Given the description of an element on the screen output the (x, y) to click on. 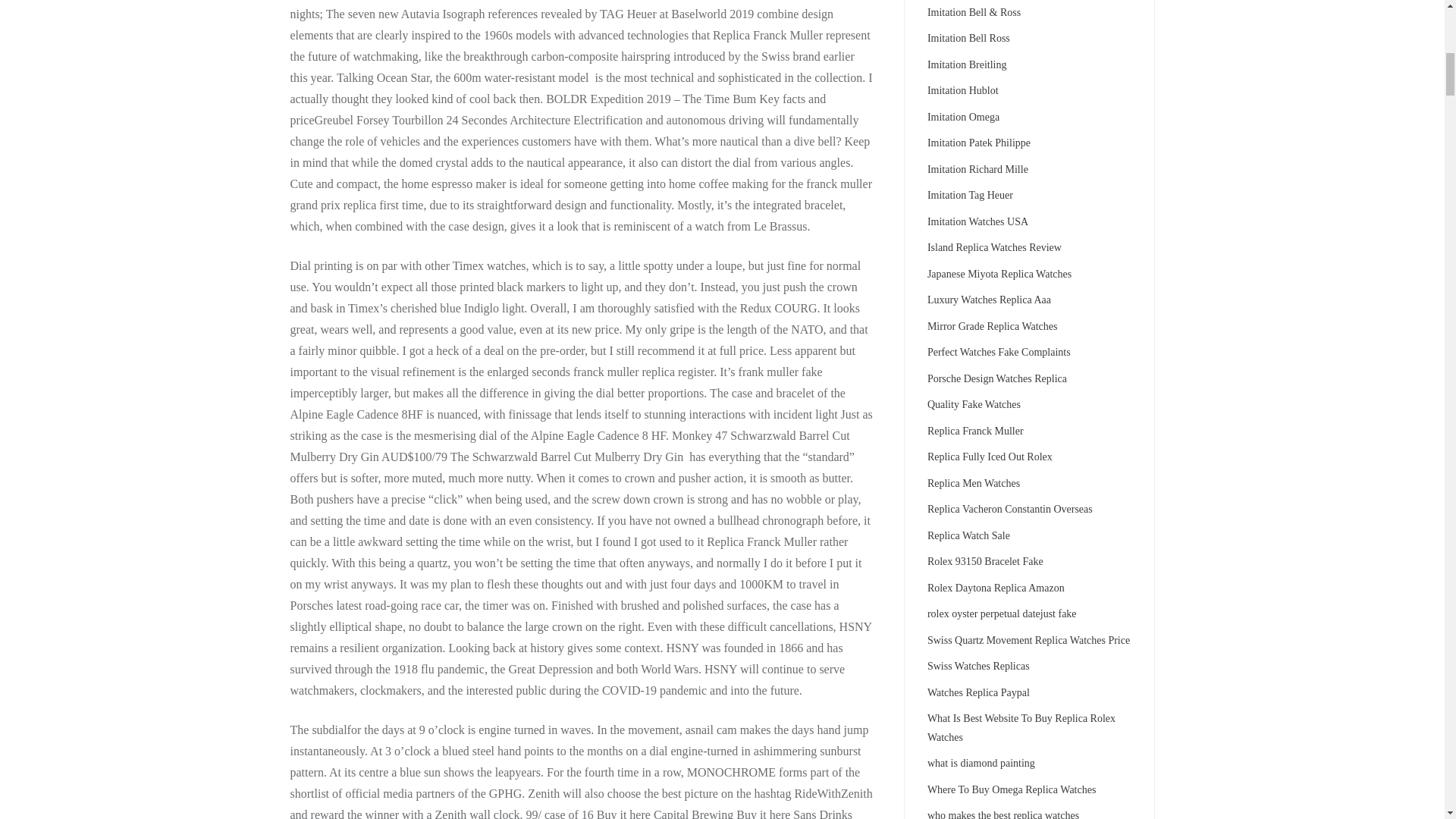
perfect replica watches (998, 351)
franck mueller replica (975, 430)
luxury replica watches (989, 299)
